Given the description of an element on the screen output the (x, y) to click on. 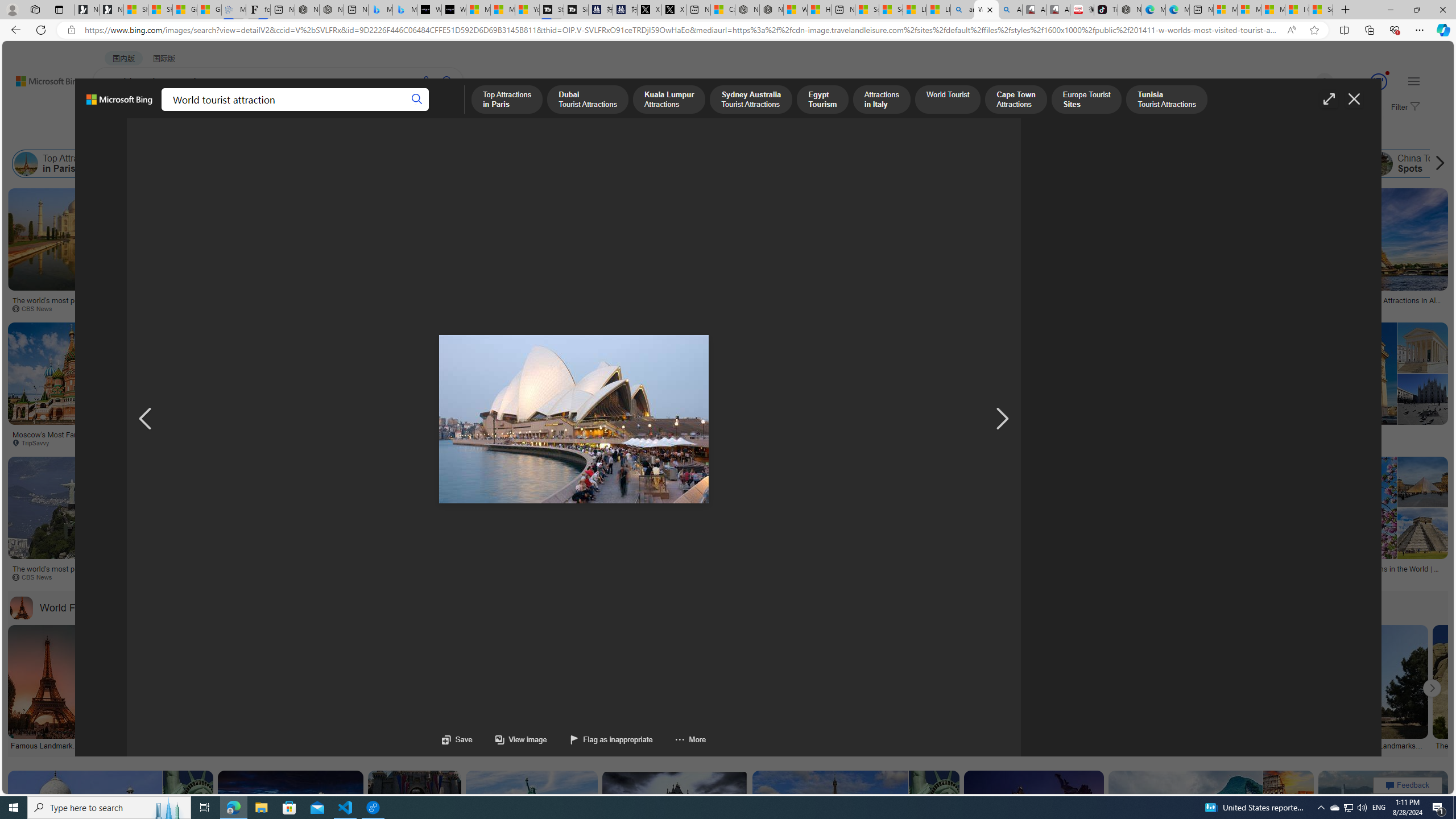
Top 10 Most Popular Cities In The Us - www.inf-inet.com (1055, 303)
Image size (127, 135)
Close image (1352, 99)
CBS News (704, 576)
Tunisia Tourist Attractions (1024, 163)
blogspot.com (1352, 442)
X (673, 9)
More (690, 739)
